Given the description of an element on the screen output the (x, y) to click on. 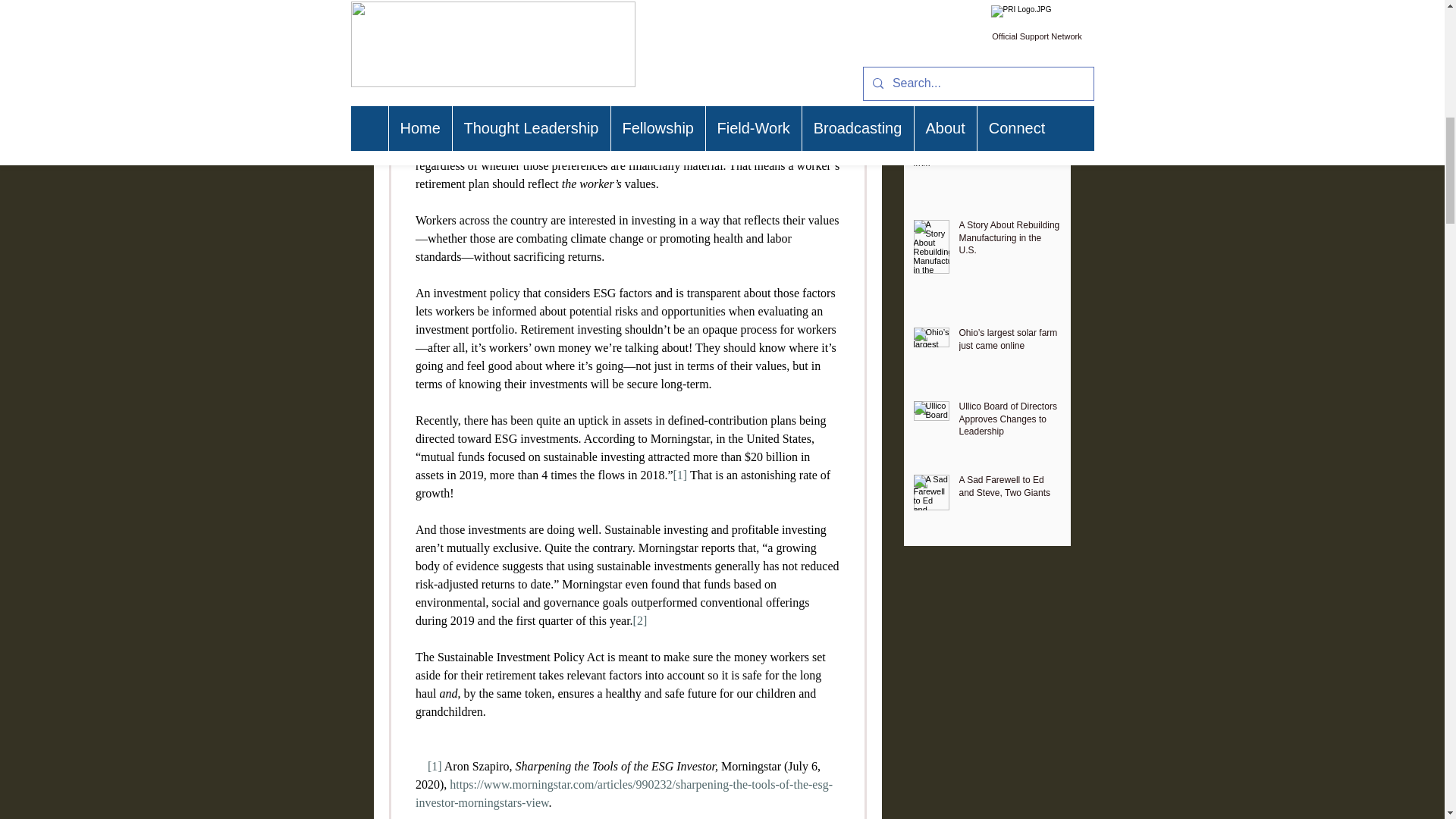
A Sad Farewell to Ed and Steve, Two Giants (1009, 490)
Blue Wolf Capital: David Hecht Named As Operating Partner (1009, 62)
A Story About Rebuilding Manufacturing in the U.S. (1009, 240)
Taking Inspiration from Adam Blumenthal (1009, 145)
Ullico Board of Directors Approves Changes to Leadership (1009, 422)
